Given the description of an element on the screen output the (x, y) to click on. 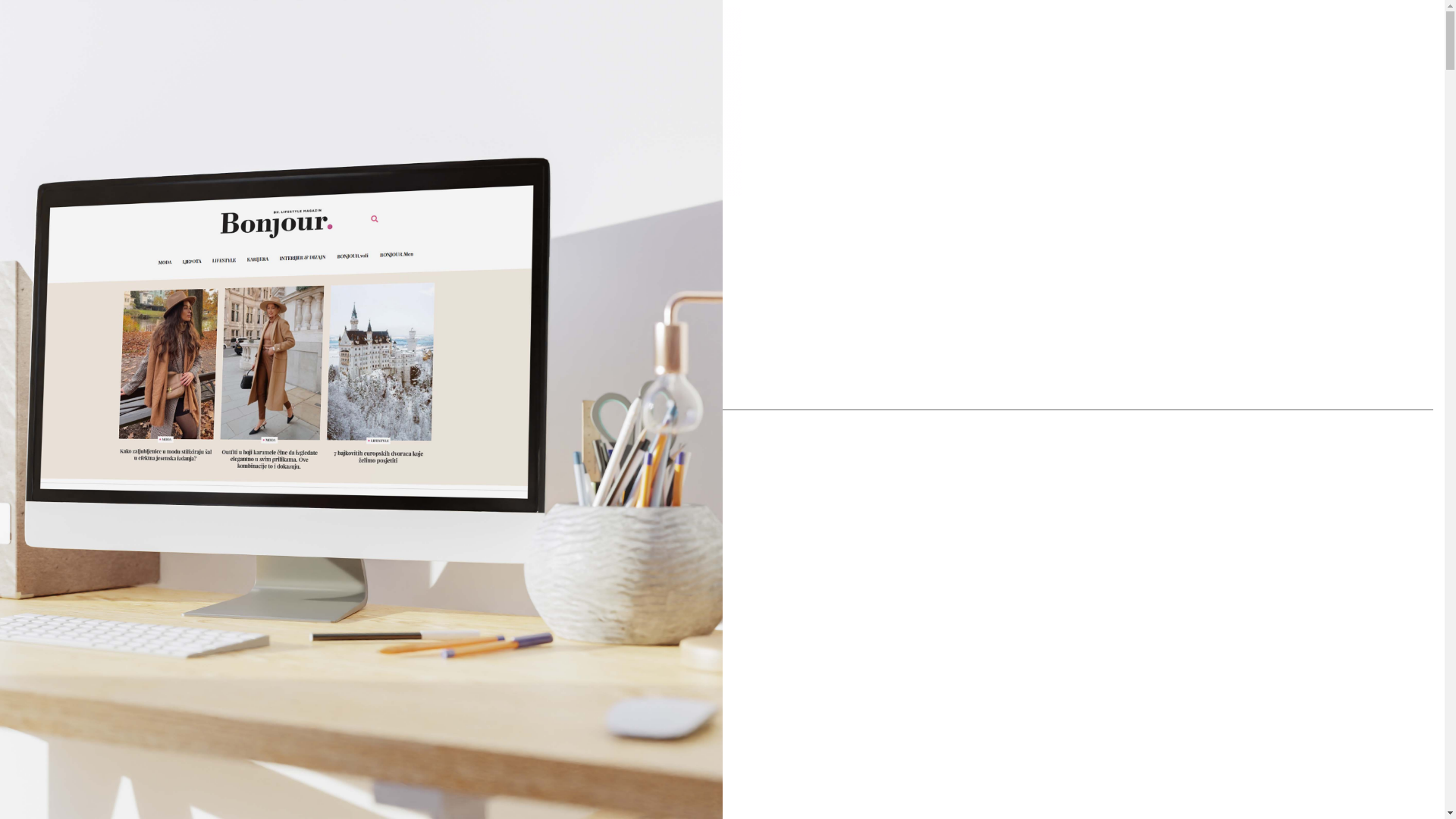
High street Element type: text (758, 384)
MODA Element type: text (743, 346)
Makeup Element type: text (758, 687)
Zdravlje i njega Element type: text (758, 725)
Kosa Element type: text (758, 649)
Modni dodaci Element type: text (758, 460)
3rd party ad content Element type: hover (373, 100)
Beauty savjeti Element type: text (758, 611)
Stilski savjeti Element type: text (758, 498)
Modne vijesti Element type: text (758, 422)
LJEPOTA Element type: text (743, 574)
LIFESTYLE Element type: text (743, 763)
Street style Element type: text (758, 536)
